Given the description of an element on the screen output the (x, y) to click on. 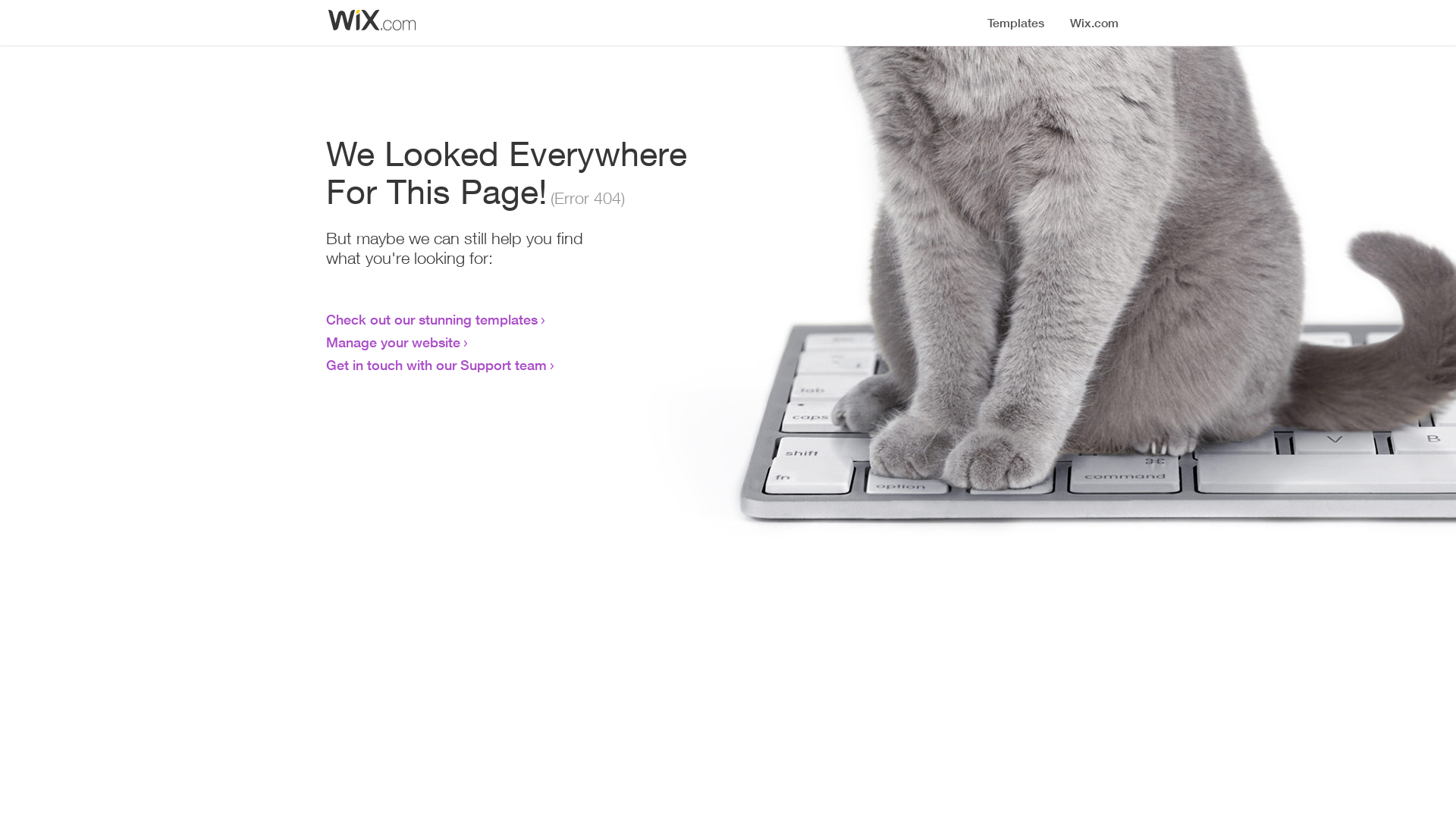
Check out our stunning templates Element type: text (431, 318)
Get in touch with our Support team Element type: text (436, 364)
Manage your website Element type: text (393, 341)
